Given the description of an element on the screen output the (x, y) to click on. 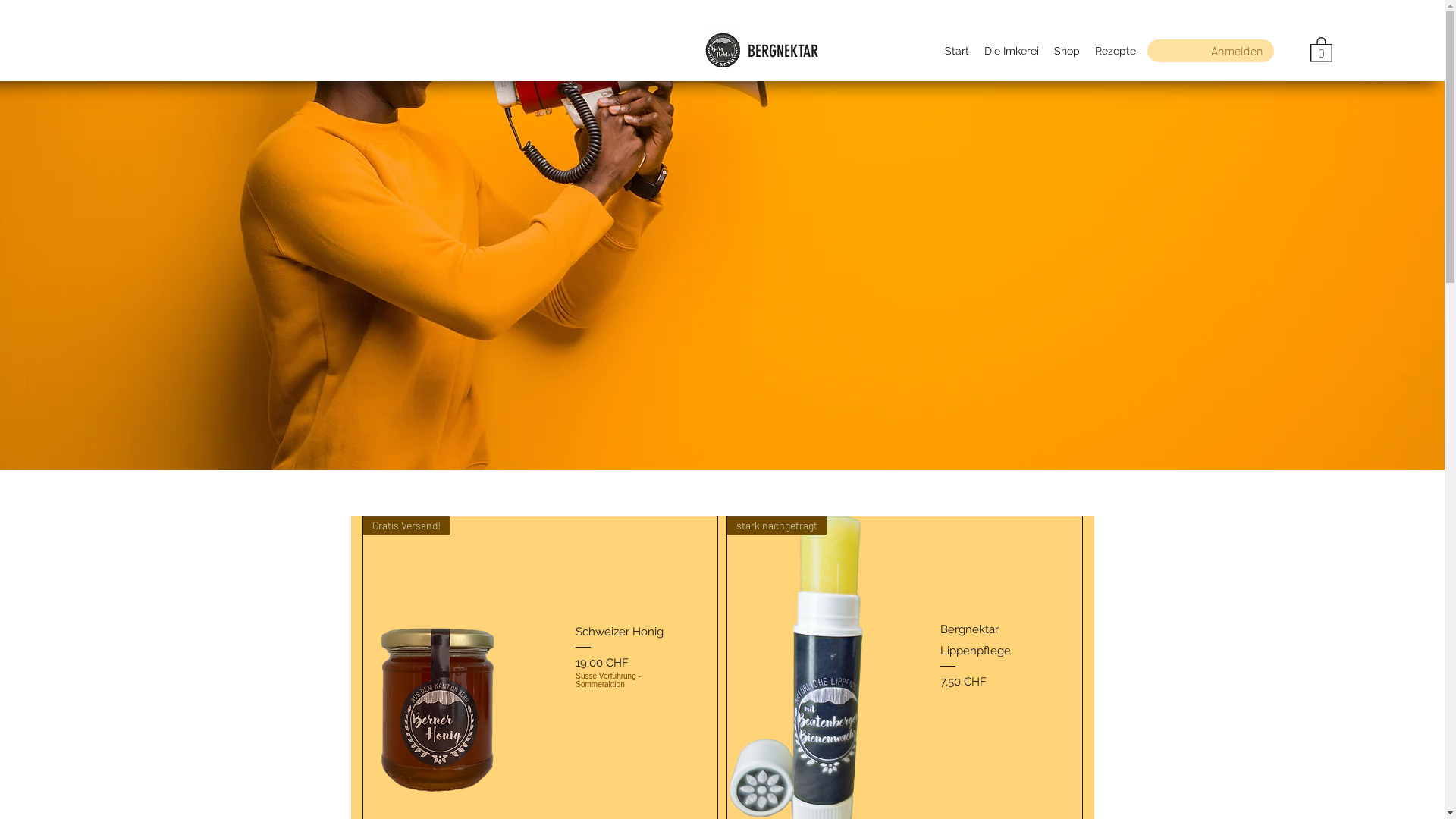
BERGNEKTAR Element type: text (782, 50)
Die Imkerei Element type: text (1011, 50)
Rezepte Element type: text (1115, 50)
Start Element type: text (956, 50)
Shop Element type: text (1066, 50)
0 Element type: text (1321, 48)
Anmelden Element type: text (1237, 50)
Bergnektar Lippenpflege
Preis
7,50 CHF Element type: text (993, 654)
